Given the description of an element on the screen output the (x, y) to click on. 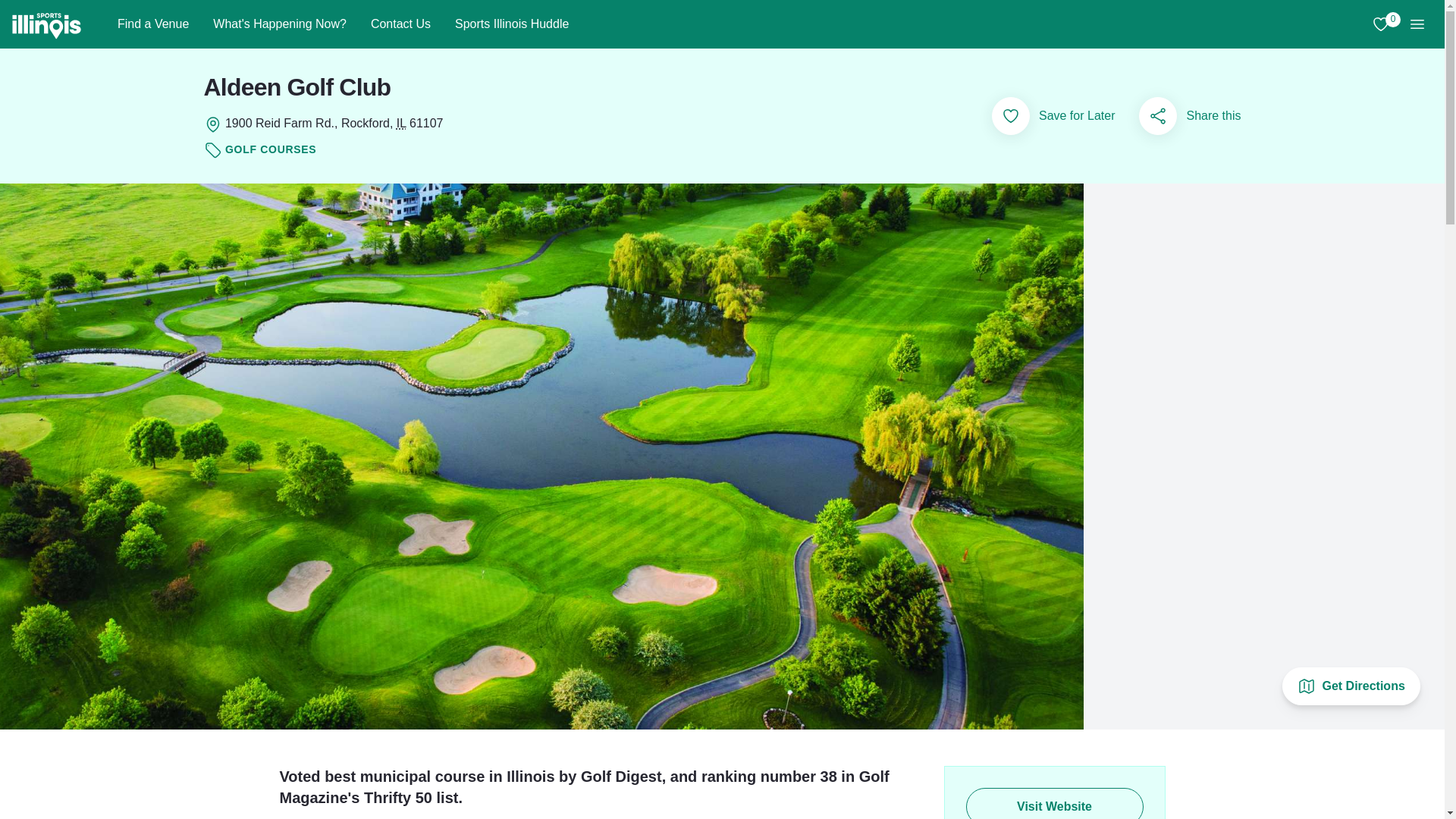
Sports Illinois Huddle (511, 24)
Find a Venue (152, 24)
Menu (1417, 24)
Get Directions (1380, 24)
Contact Us (1351, 686)
What's Happening Now? (400, 24)
Add to Favorites (279, 24)
Visit Website (1010, 116)
